Given the description of an element on the screen output the (x, y) to click on. 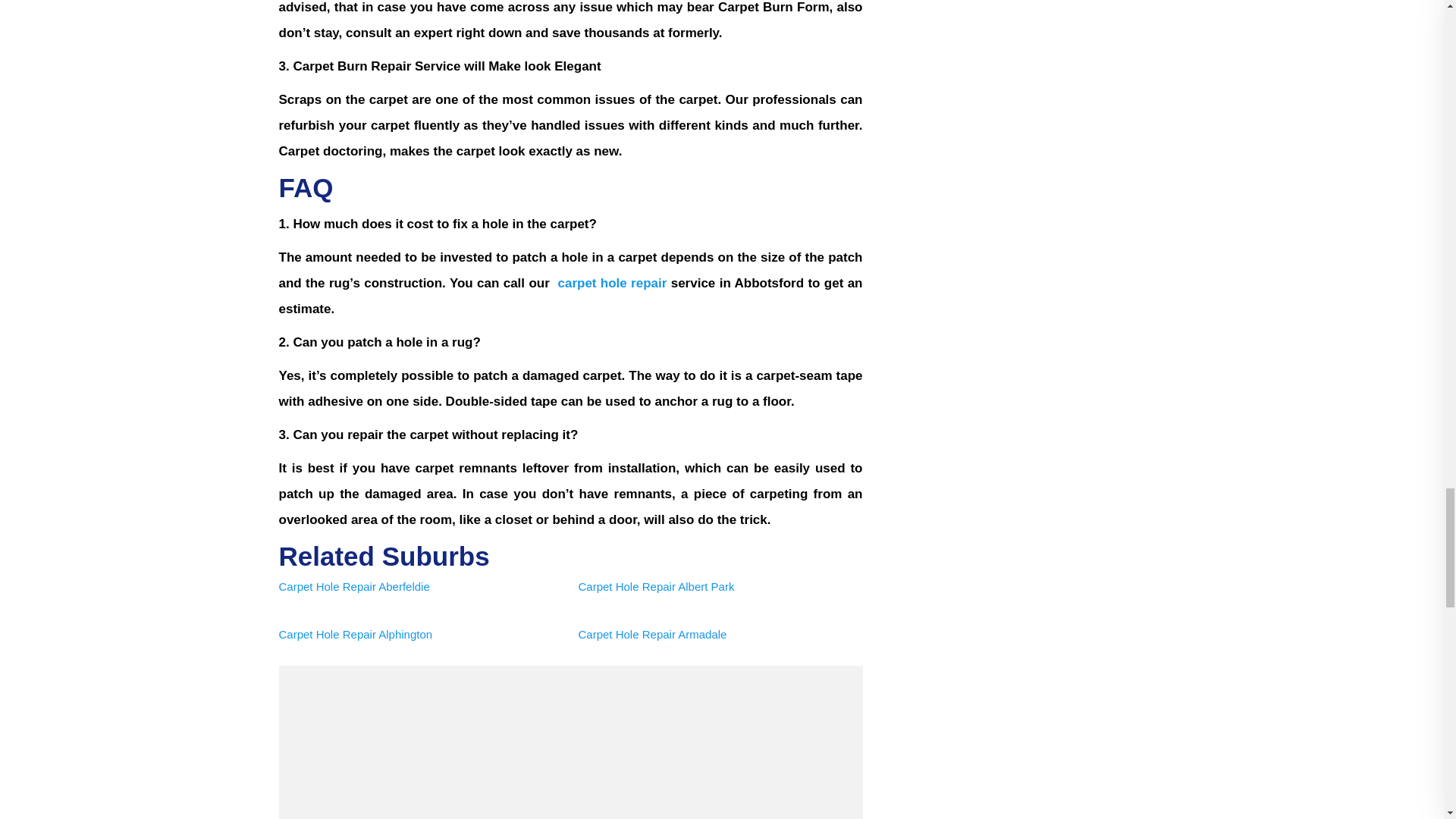
Carpet Hole Repair Alphington (355, 634)
Carpet Hole Repair Aberfeldie (354, 585)
Carpet Hole Repair Albert Park (655, 585)
Carpet Hole Repair Armadale (652, 634)
